Given the description of an element on the screen output the (x, y) to click on. 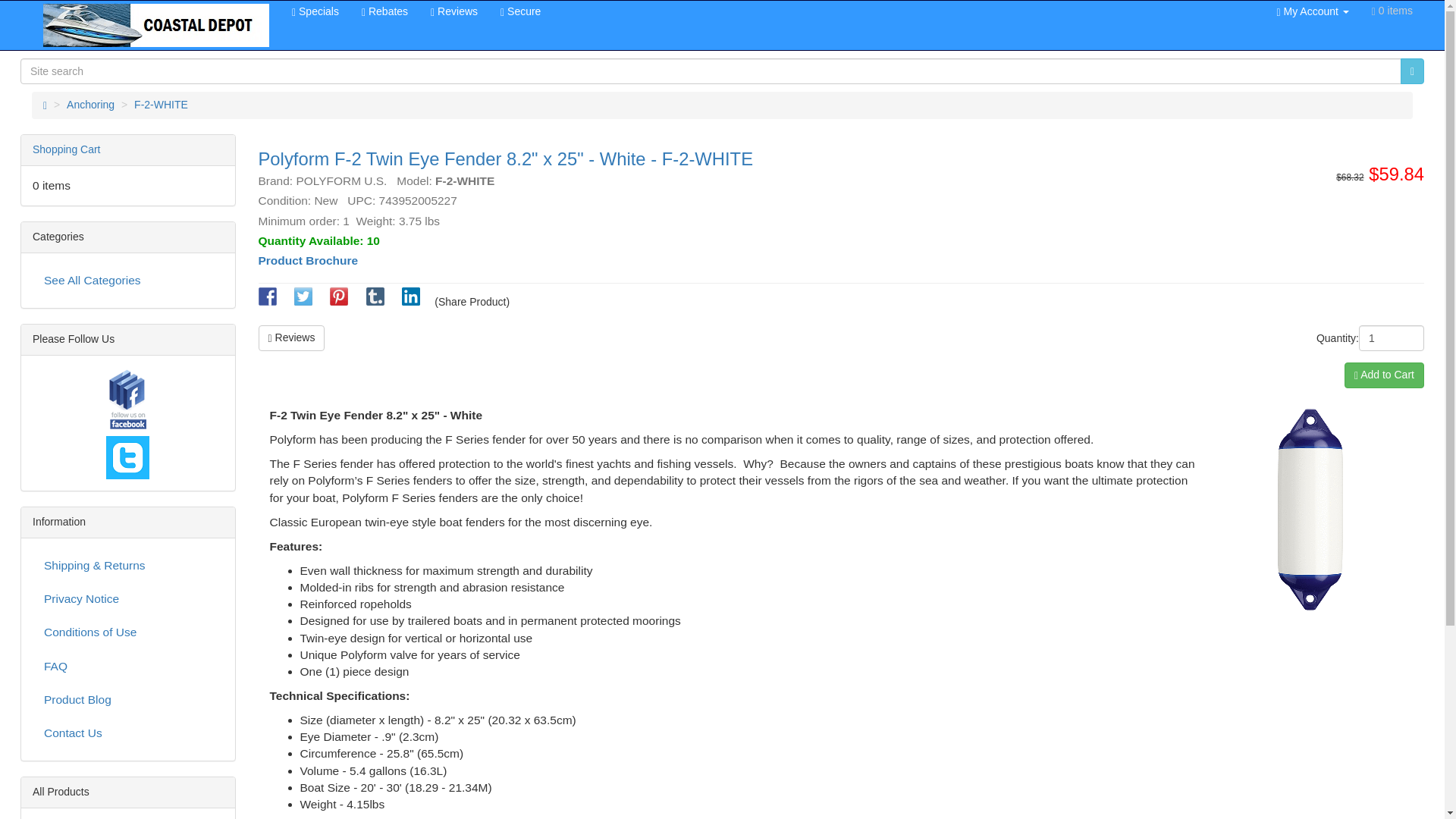
FAQ (128, 666)
Home (44, 104)
Conditions of Use (128, 632)
Twitter (127, 457)
Product Brochure (307, 259)
Share on tumblr (375, 301)
Specials (315, 11)
Product Blog (128, 699)
Contact Us (128, 733)
Share on Facebook (266, 301)
My Account (1312, 11)
Polyform F-2 Twin Eye Fender 8.2" x 25" - White - F-2-WHITE (1309, 509)
Pin it with Pinterest (338, 301)
Share on Twitter (303, 301)
Marine Products For The Boating Enthusiast (156, 25)
